Given the description of an element on the screen output the (x, y) to click on. 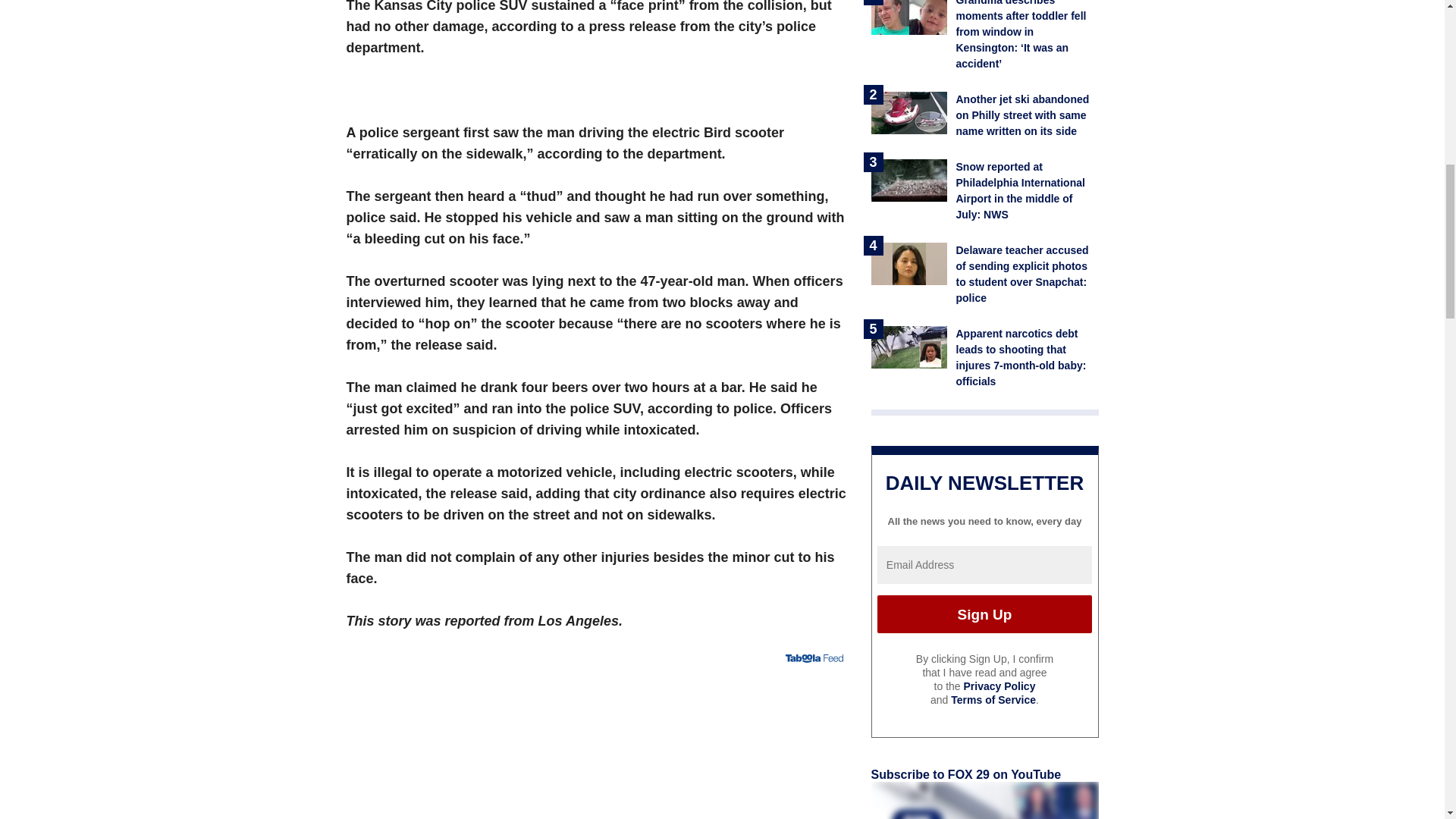
Sign Up (984, 614)
